Given the description of an element on the screen output the (x, y) to click on. 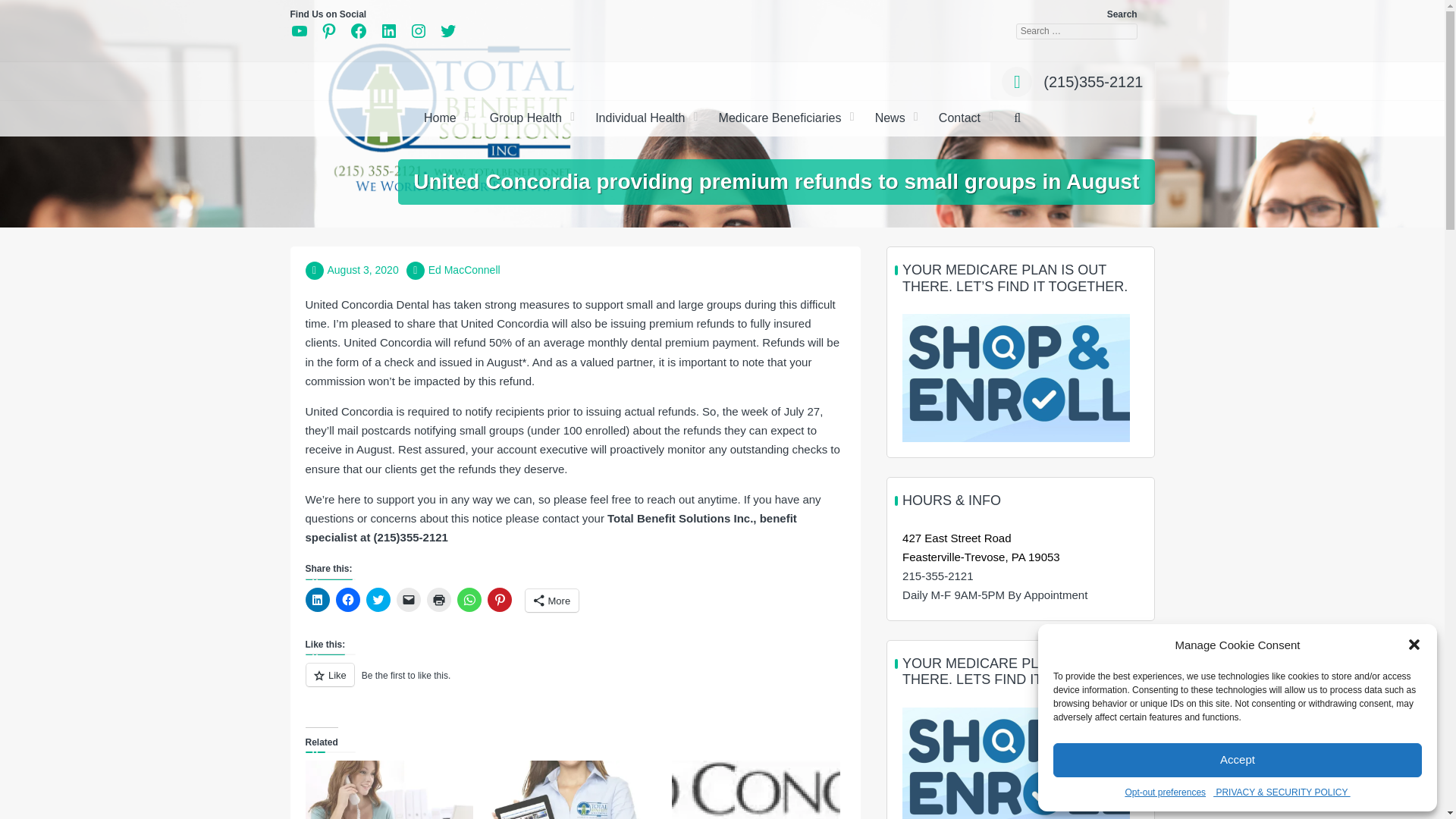
Click to print (437, 599)
Click to email a link to a friend (408, 599)
Like or Reblog (574, 683)
YouTube (298, 31)
United Concordia Enrollment Forms 2017 (388, 789)
Facebook (358, 31)
Search (18, 6)
Accept (1237, 759)
Search (802, 333)
Twitter (448, 31)
